Given the description of an element on the screen output the (x, y) to click on. 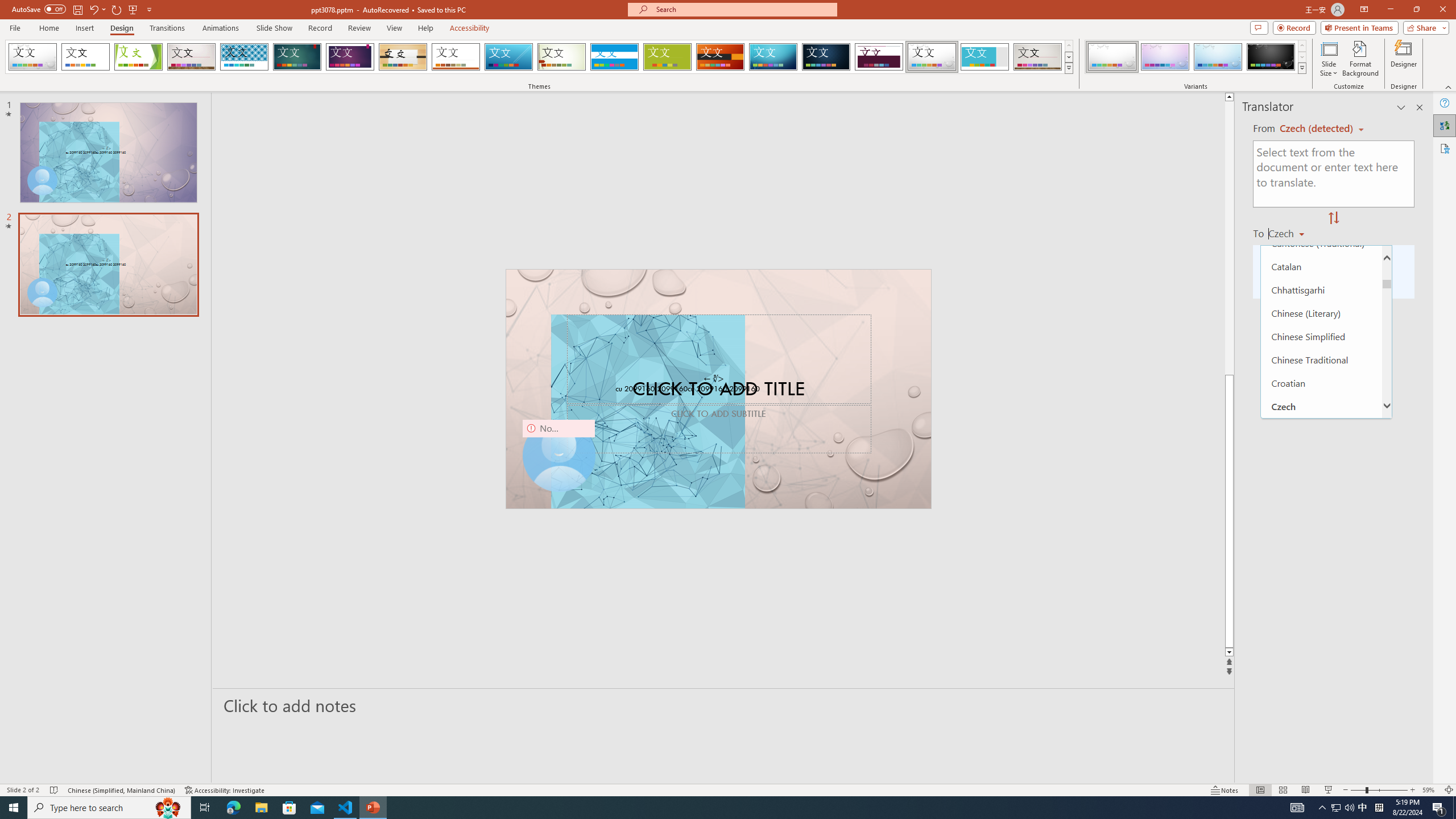
Dividend (879, 56)
Catalan (1320, 266)
AutomationID: SlideThemesGallery (539, 56)
Berlin (720, 56)
An abstract genetic concept (718, 388)
Czech (1320, 405)
English (1320, 545)
